Given the description of an element on the screen output the (x, y) to click on. 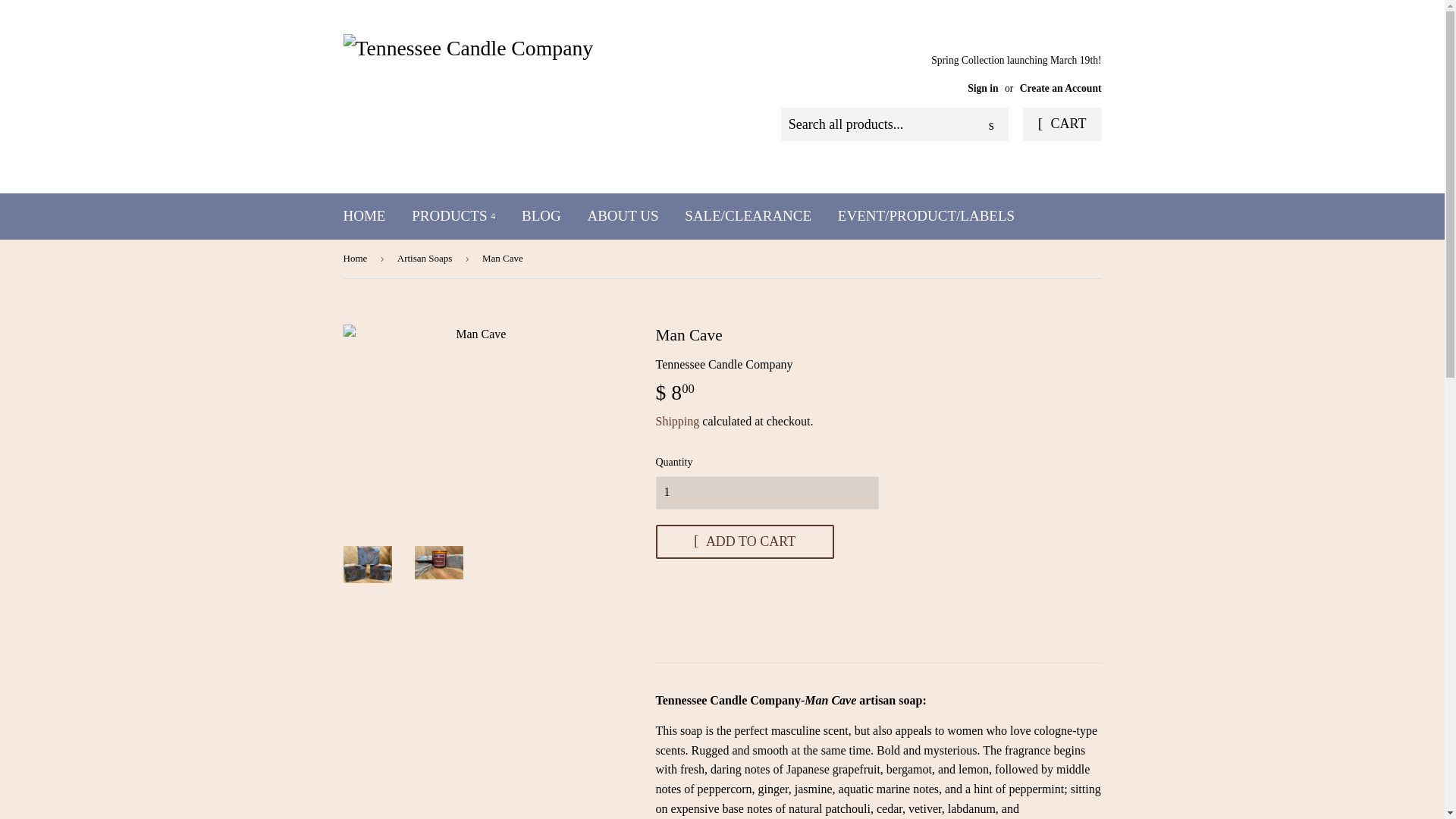
CART (1062, 123)
Create an Account (1061, 88)
Sign in (982, 88)
Search (991, 124)
1 (766, 492)
